Given the description of an element on the screen output the (x, y) to click on. 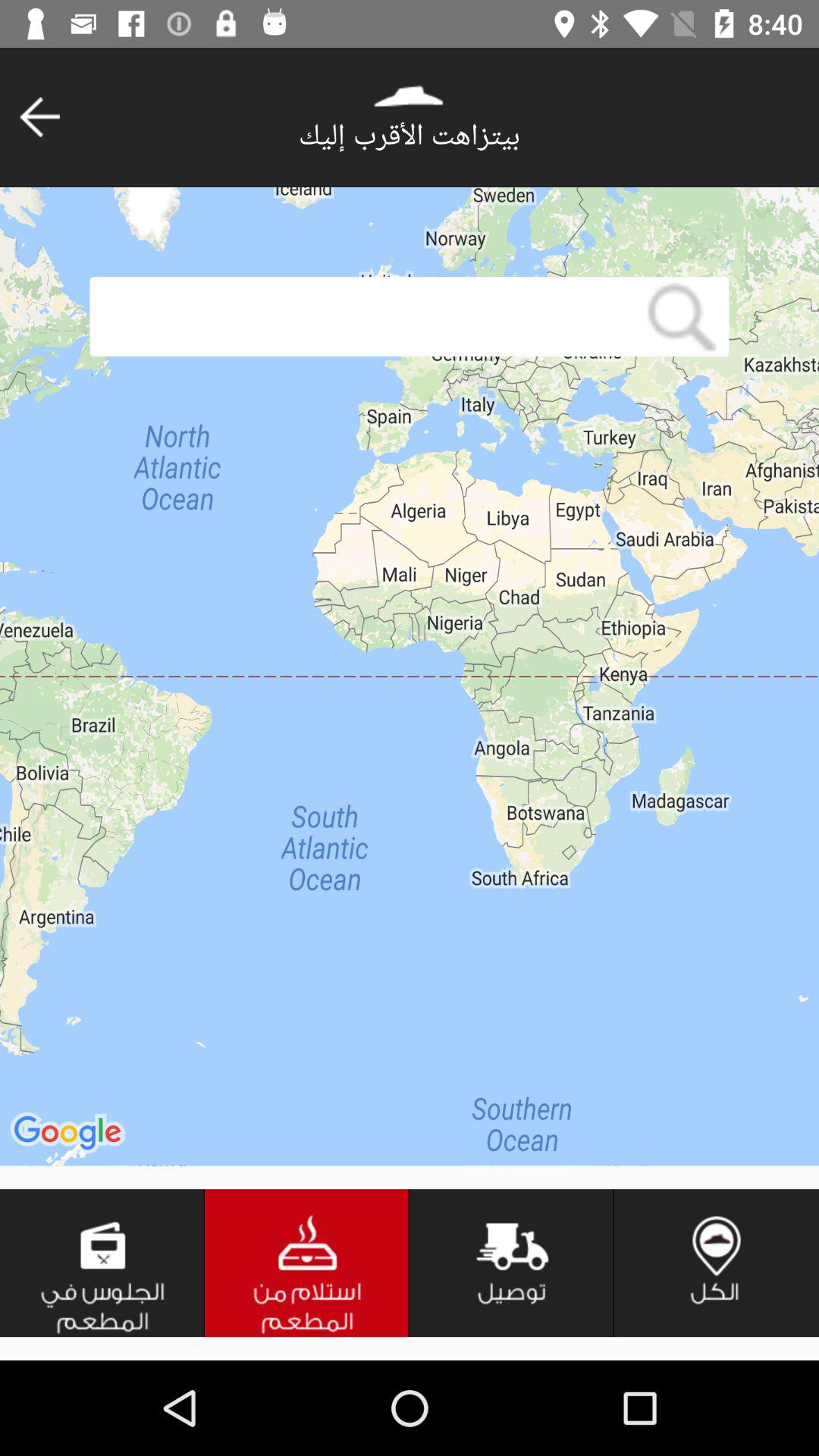
hotels search button (306, 1262)
